Given the description of an element on the screen output the (x, y) to click on. 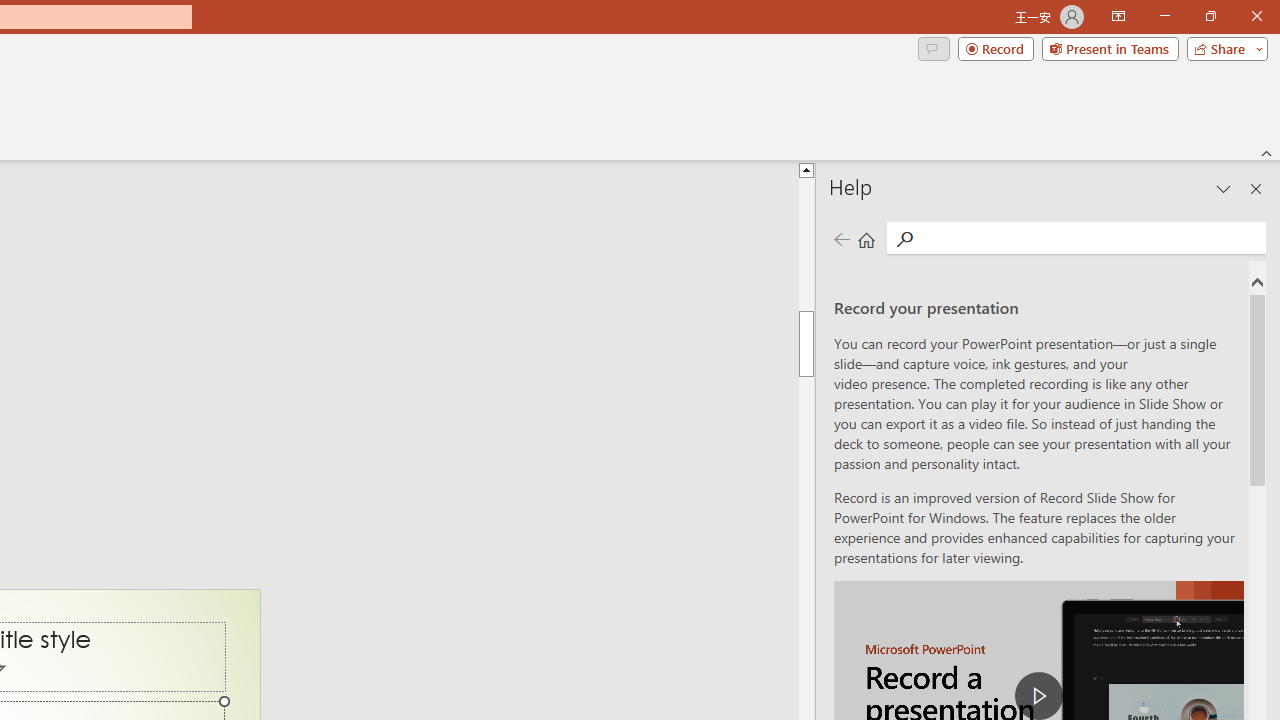
play Record a Presentation (1038, 695)
Page up (806, 244)
Previous page (841, 238)
